Given the description of an element on the screen output the (x, y) to click on. 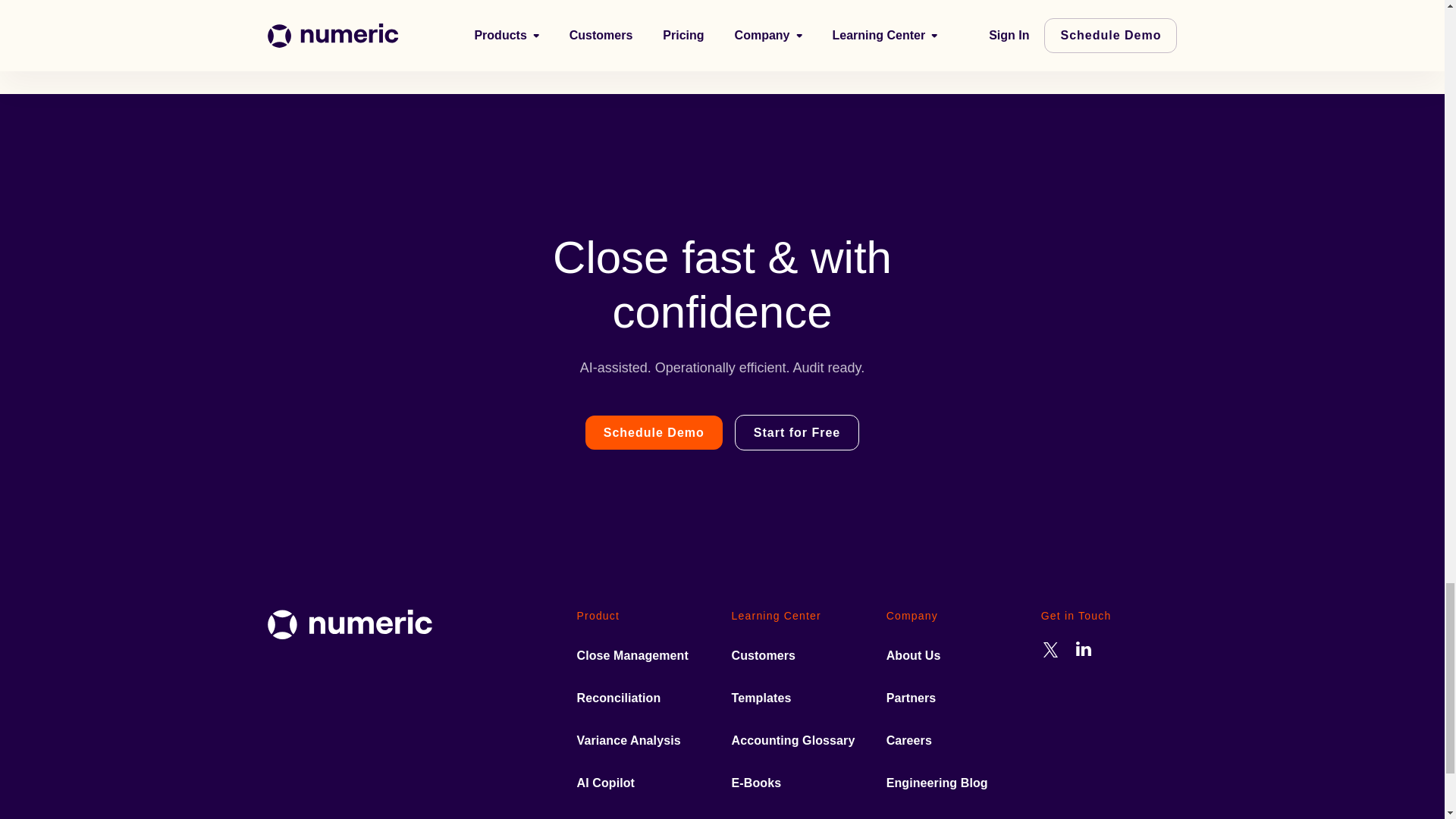
Schedule Demo (653, 432)
Close Management (631, 656)
Start for Free (797, 432)
